Given the description of an element on the screen output the (x, y) to click on. 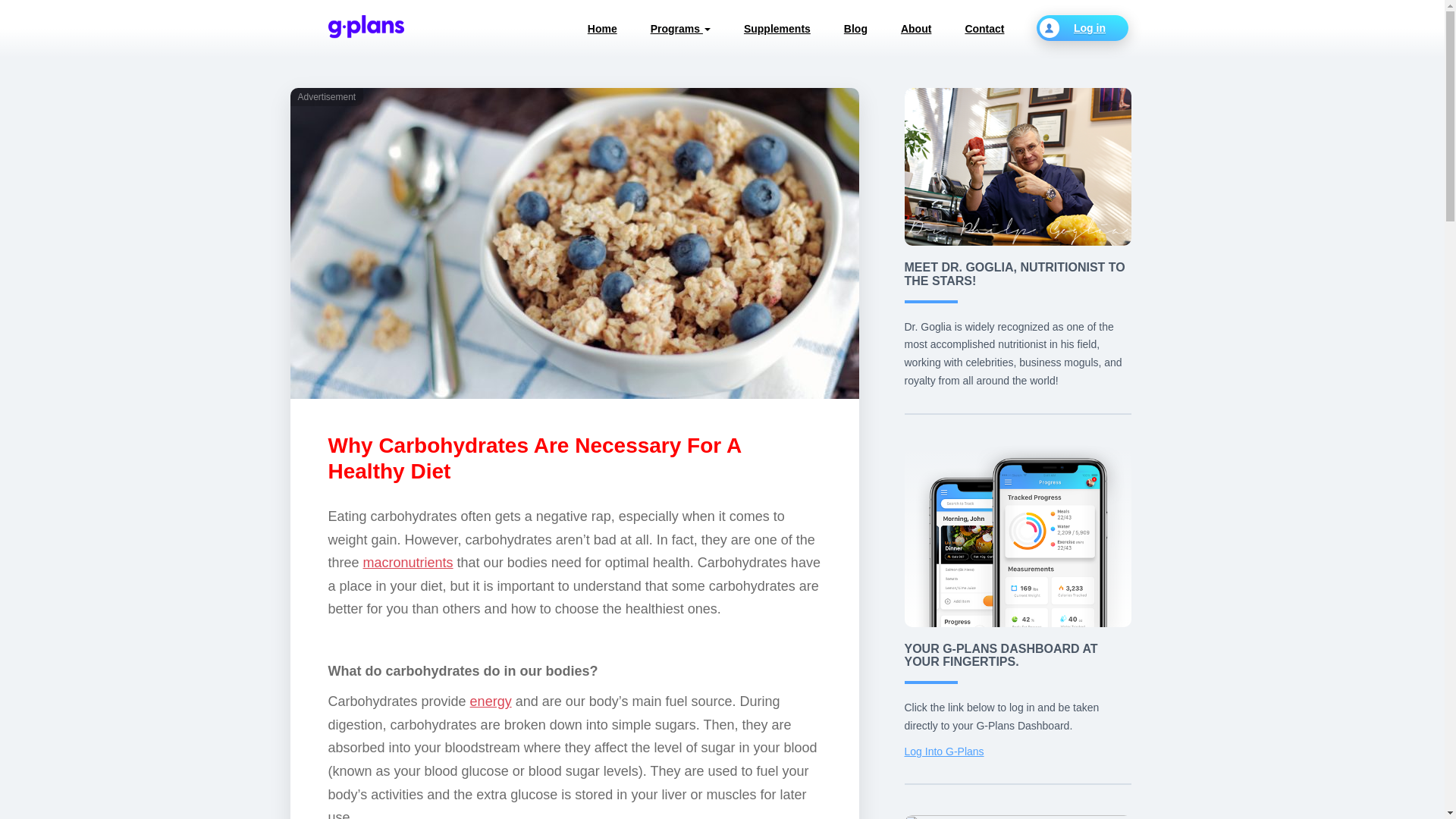
Contact (983, 28)
About (915, 28)
Blog (855, 28)
Log Into G-Plans (944, 751)
Programs (679, 28)
About (915, 28)
Home (601, 28)
Log in (1080, 27)
macronutrients (407, 562)
energy (491, 701)
Supplements (776, 28)
Programs (679, 28)
Log in (1080, 27)
Home (601, 28)
Contact (983, 28)
